Given the description of an element on the screen output the (x, y) to click on. 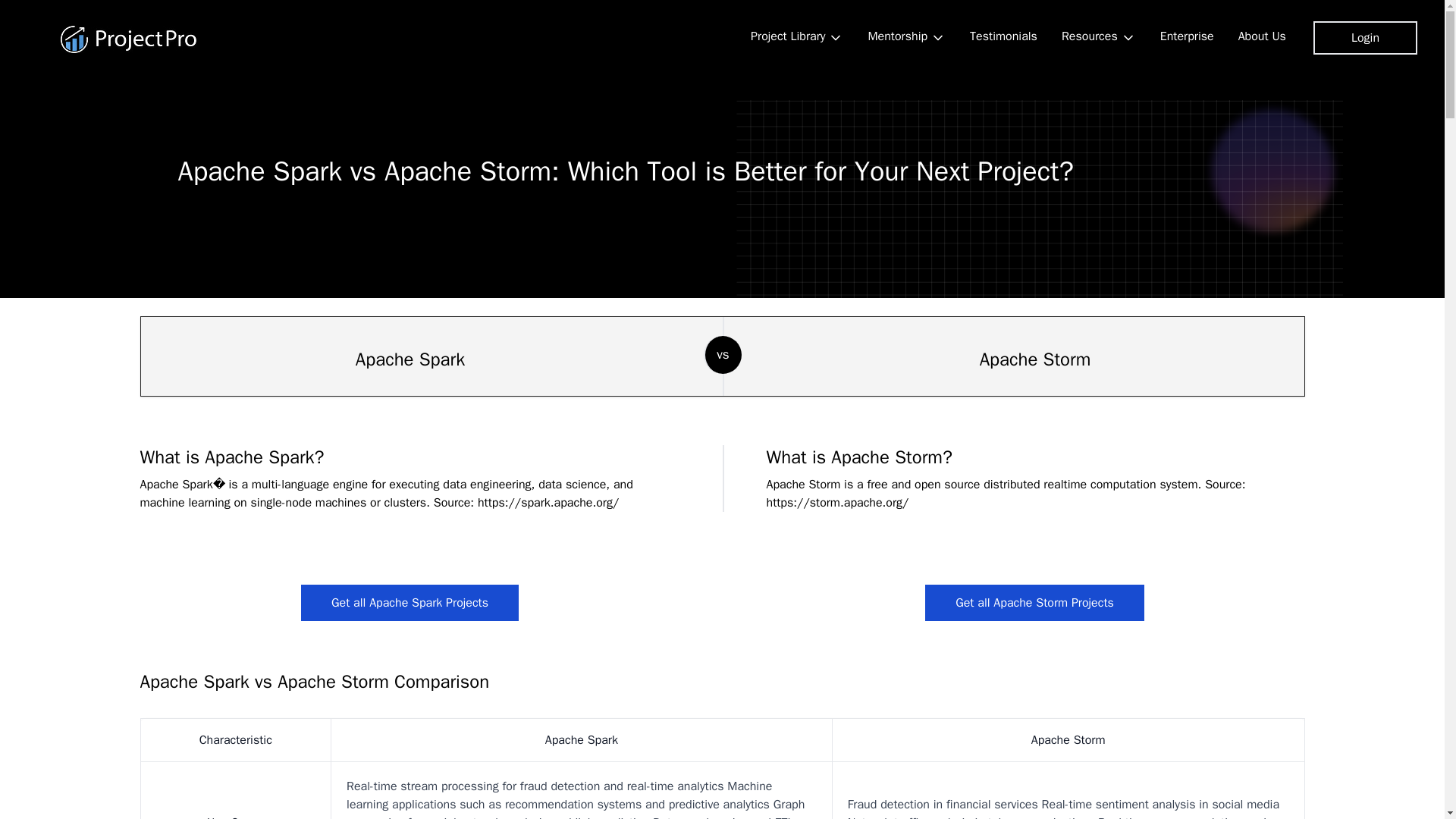
Projects (797, 37)
Resources (1098, 37)
Testimonials (1003, 36)
Get all Apache Spark Projects (409, 602)
projectpro logo (128, 39)
About Us (1261, 36)
Customer Testimonials (1003, 36)
Enterprise (1186, 36)
Get all Apache Storm projects (1034, 602)
Enterprise (1186, 36)
Get all Apache Storm Projects (1034, 602)
Get all Apache Spark projects (409, 602)
Login (1364, 37)
About us (1261, 36)
Login (1364, 37)
